Given the description of an element on the screen output the (x, y) to click on. 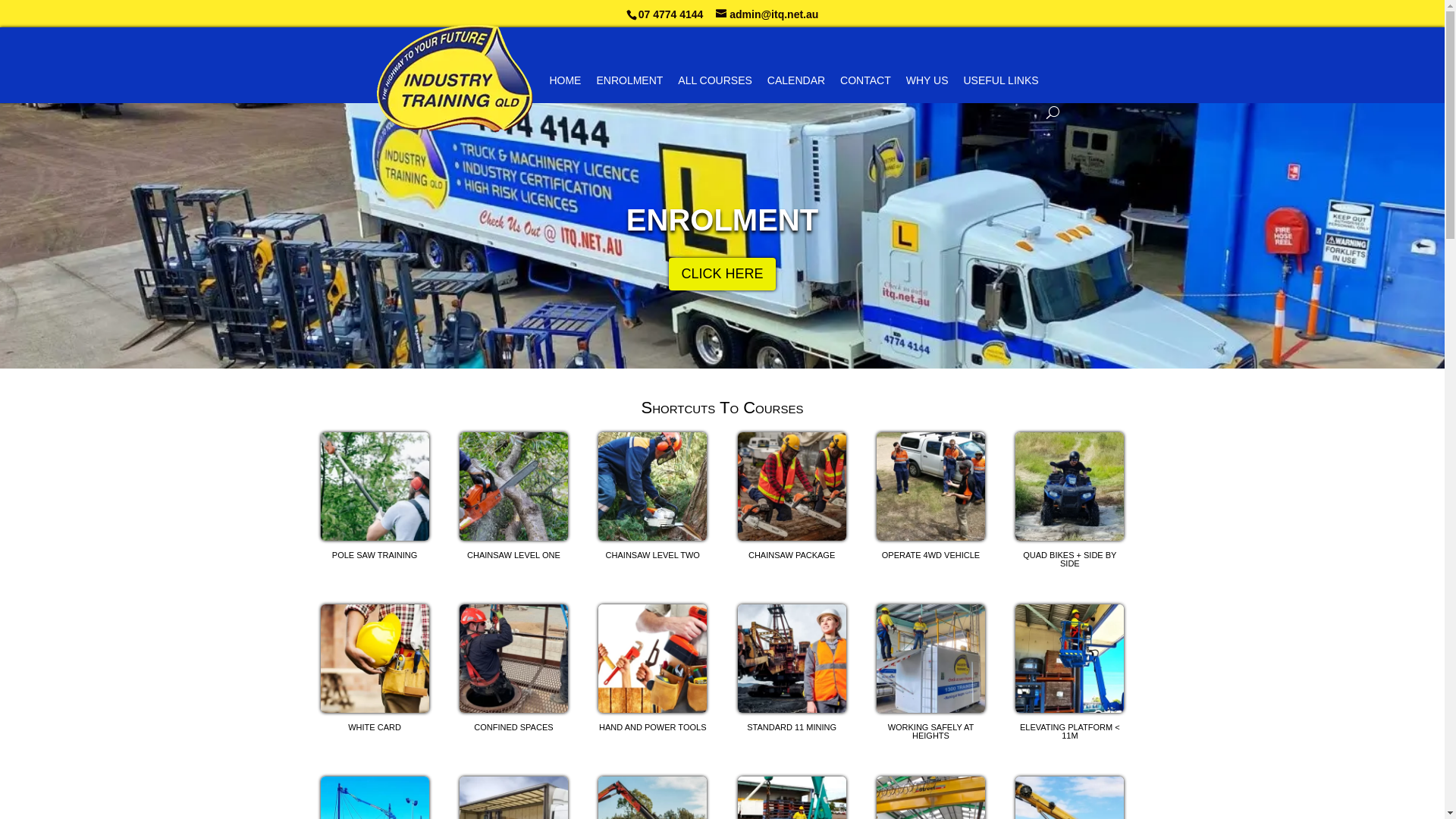
ENROLMENT Element type: text (722, 219)
WHY US Element type: text (927, 78)
WORKING SAFELY AT HEIGHTS Element type: text (930, 674)
CONFINED SPACES Element type: text (513, 670)
USEFUL LINKS Element type: text (1000, 78)
STANDARD 11 MINING Element type: text (791, 670)
ENROLMENT Element type: text (629, 78)
CLICK HERE Element type: text (721, 273)
POLE SAW TRAINING Element type: text (374, 498)
CONTACT Element type: text (865, 78)
QUAD BIKES + SIDE BY SIDE Element type: text (1069, 502)
CALENDAR Element type: text (795, 78)
admin@itq.net.au Element type: text (766, 13)
HOME Element type: text (564, 78)
WHITE CARD Element type: text (374, 670)
HAND AND POWER TOOLS Element type: text (652, 670)
OPERATE 4WD VEHICLE Element type: text (930, 498)
CHAINSAW LEVEL TWO Element type: text (652, 498)
CHAINSAW LEVEL ONE Element type: text (513, 498)
ELEVATING PLATFORM < 11M Element type: text (1069, 674)
ALL COURSES Element type: text (714, 78)
CHAINSAW PACKAGE Element type: text (791, 498)
